Given the description of an element on the screen output the (x, y) to click on. 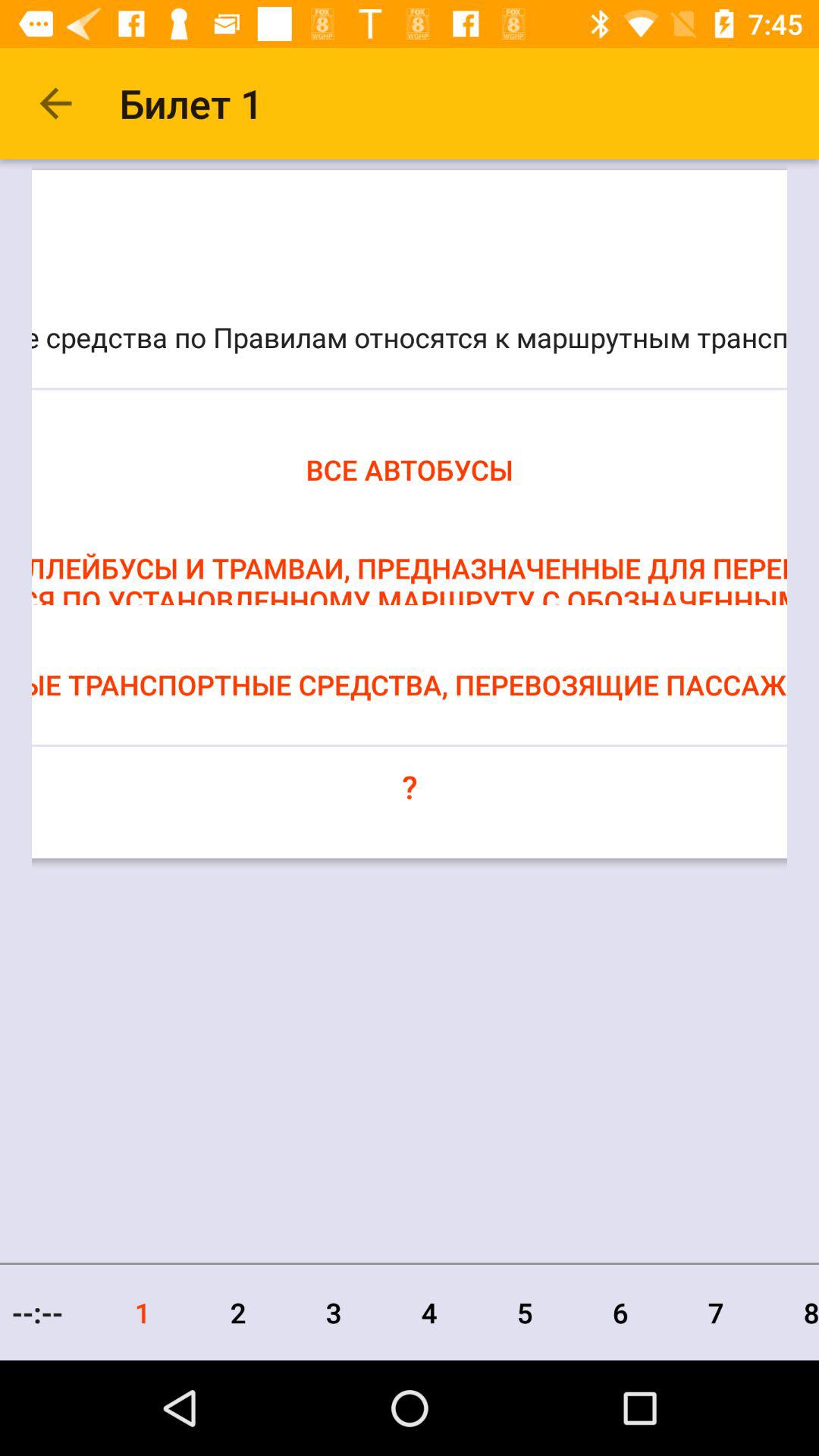
jump to the 7 item (715, 1312)
